Given the description of an element on the screen output the (x, y) to click on. 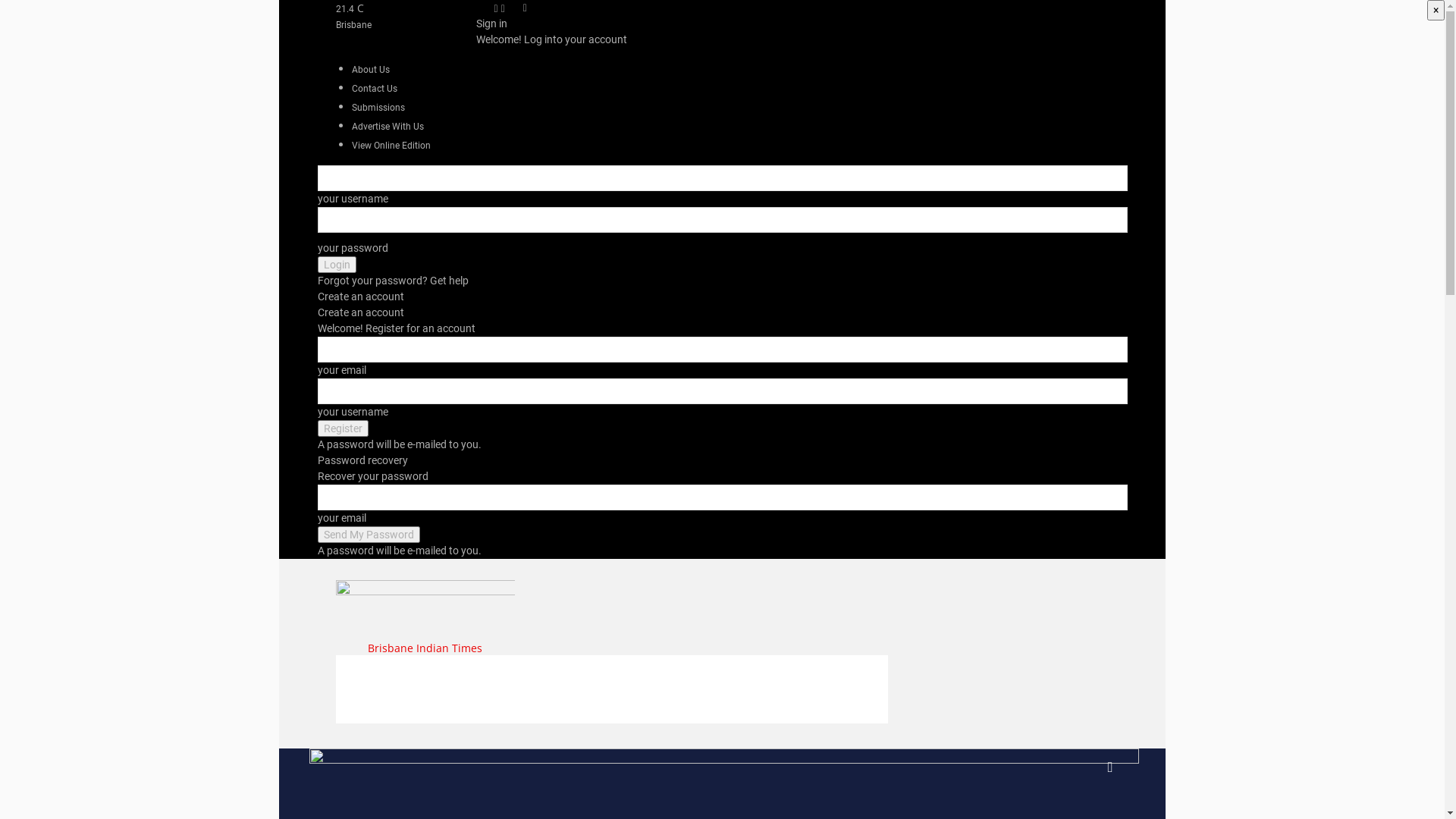
Facebook Element type: hover (497, 7)
Submissions Element type: text (377, 107)
Advertise With Us Element type: text (387, 126)
Instagram Element type: hover (503, 7)
Forgot your password? Get help Element type: text (391, 280)
Contact Us Element type: text (374, 88)
About Us Element type: text (370, 69)
View Online Edition Element type: text (390, 145)
Brisbane Indian Times Element type: text (424, 619)
Create an account Element type: text (359, 296)
Advertisement Element type: hover (611, 689)
